Given the description of an element on the screen output the (x, y) to click on. 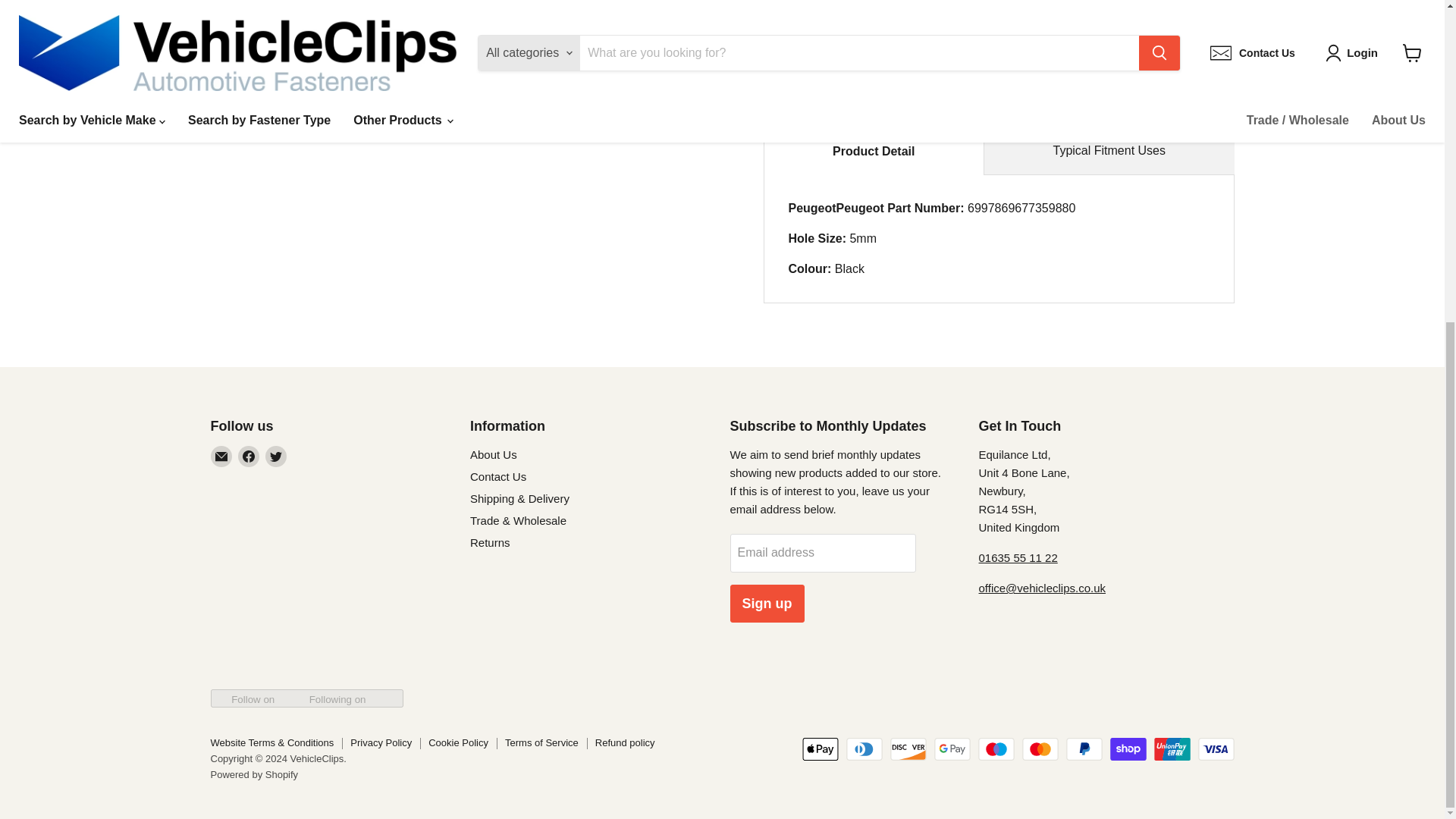
Apple Pay (820, 748)
Google Pay (952, 748)
Customer reviews powered by Trustpilot (326, 500)
Discover (907, 748)
Email (221, 455)
Twitter (275, 455)
Diners Club (863, 748)
Facebook (248, 455)
